Given the description of an element on the screen output the (x, y) to click on. 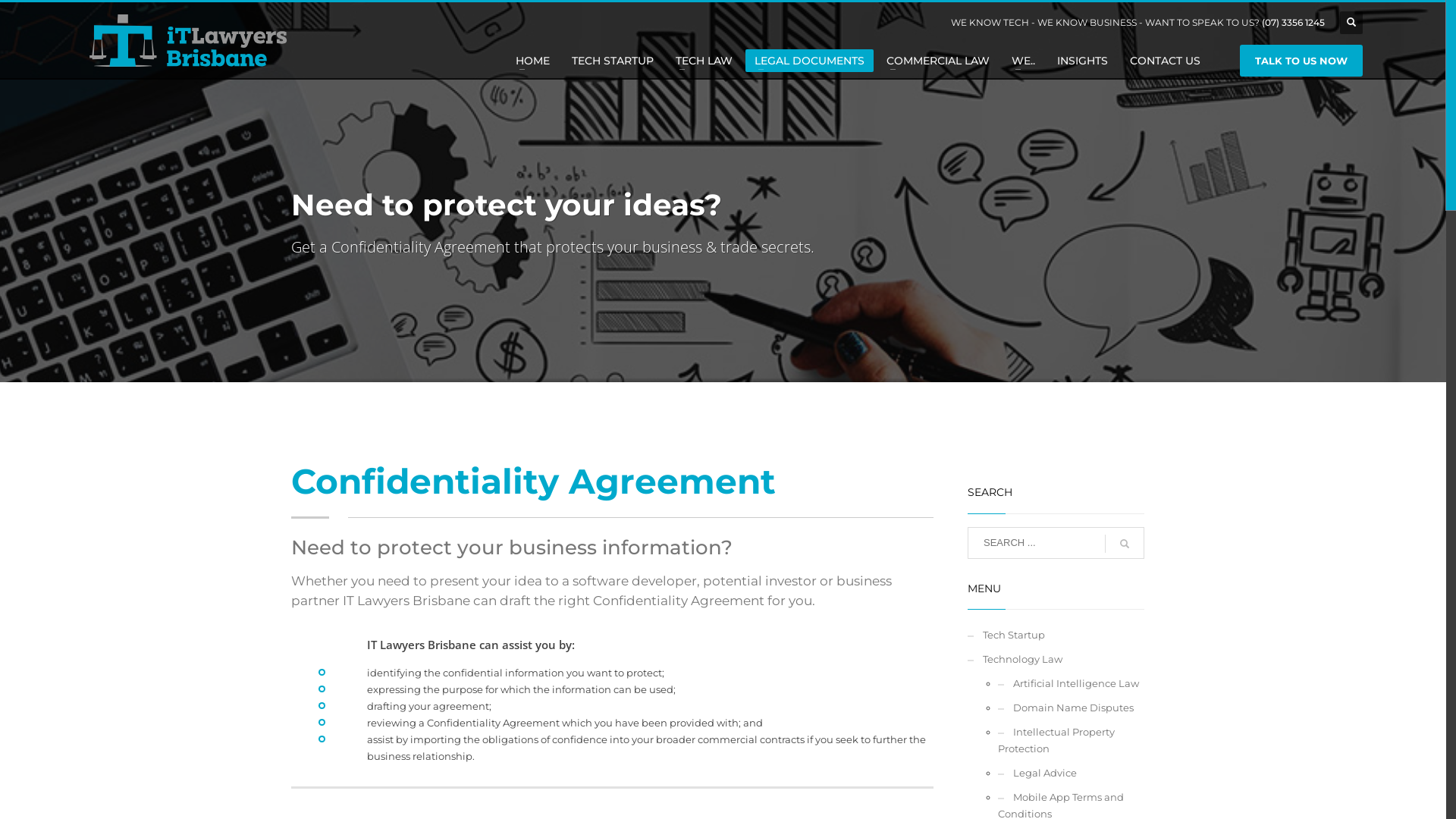
Tech Startup Element type: text (1055, 634)
Intellectual Property Protection Element type: text (1070, 739)
HOME Element type: text (532, 60)
COMMERCIAL LAW Element type: text (937, 60)
INSIGHTS Element type: text (1082, 60)
WE.. Element type: text (1023, 60)
(07) 3356 1245 Element type: text (1292, 22)
LEGAL DOCUMENTS Element type: text (809, 60)
IT Lawyers Brisbane Element type: hover (186, 41)
go Element type: text (1123, 543)
CONTACT US Element type: text (1164, 60)
Legal Advice Element type: text (1070, 772)
Artificial Intelligence Law Element type: text (1070, 683)
Domain Name Disputes Element type: text (1070, 707)
TECH LAW Element type: text (703, 60)
Technology Law Element type: text (1055, 658)
TECH STARTUP Element type: text (612, 60)
TALK TO US NOW Element type: text (1300, 60)
